Given the description of an element on the screen output the (x, y) to click on. 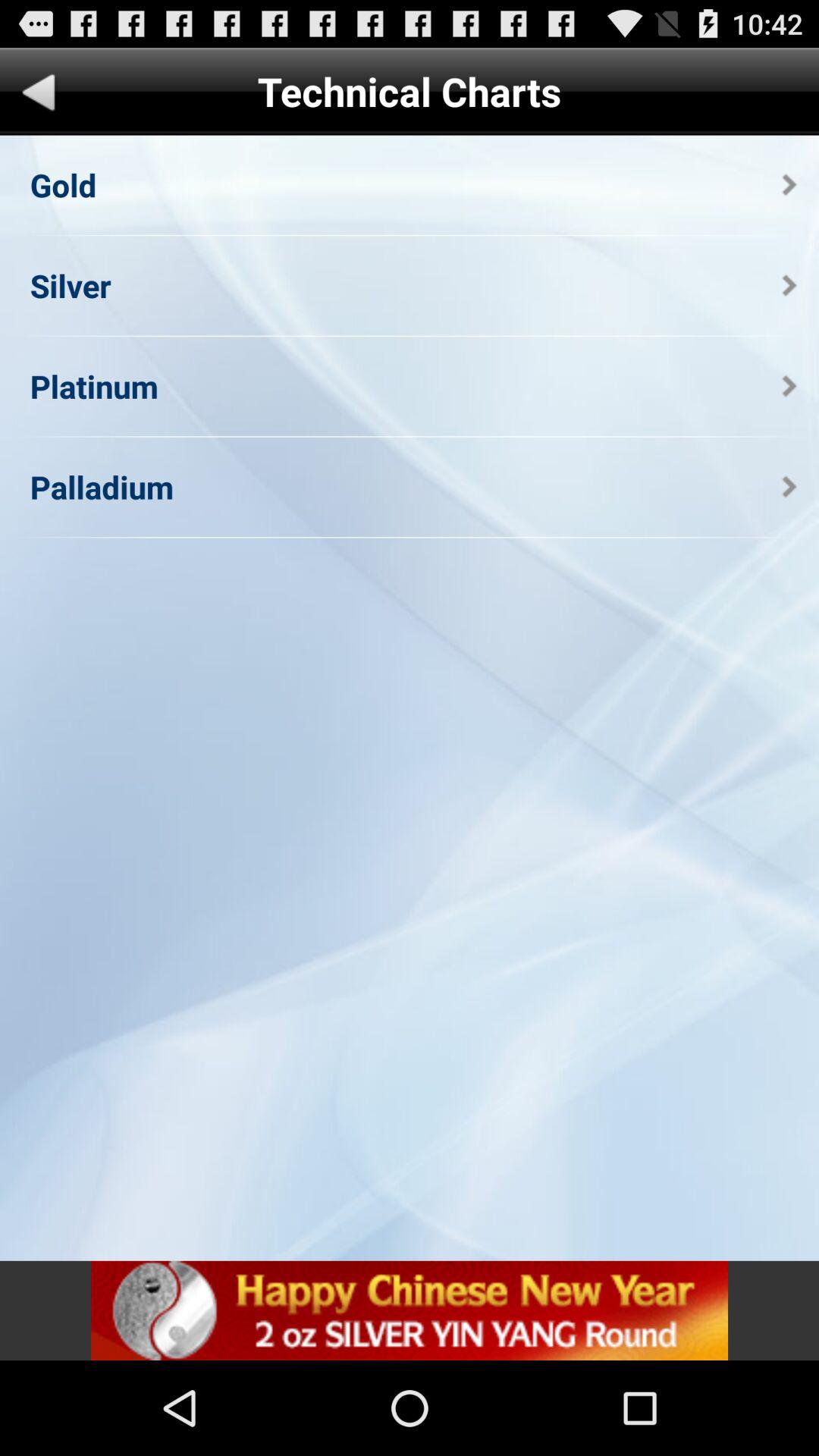
click the app below palladium item (409, 1310)
